Given the description of an element on the screen output the (x, y) to click on. 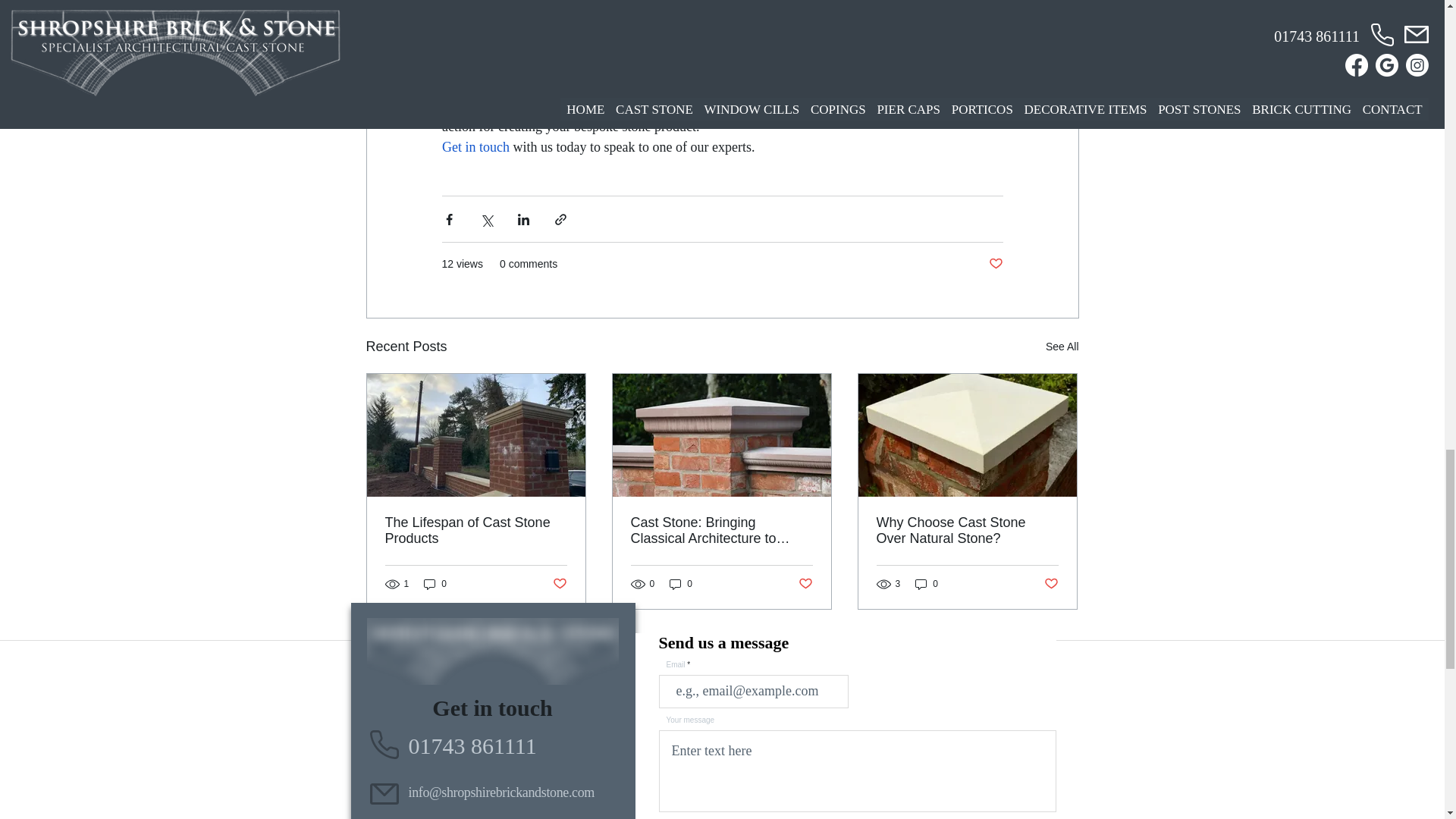
Post not marked as liked (804, 584)
Cast Stone: Bringing Classical Architecture to Modern Homes (721, 531)
decorative cast stone products (582, 23)
Post not marked as liked (558, 584)
The Lifespan of Cast Stone Products (476, 531)
0 (435, 583)
Why Choose Cast Stone Over Natural Stone? (967, 531)
See All (1061, 346)
0 (681, 583)
Get in touch (474, 146)
